Given the description of an element on the screen output the (x, y) to click on. 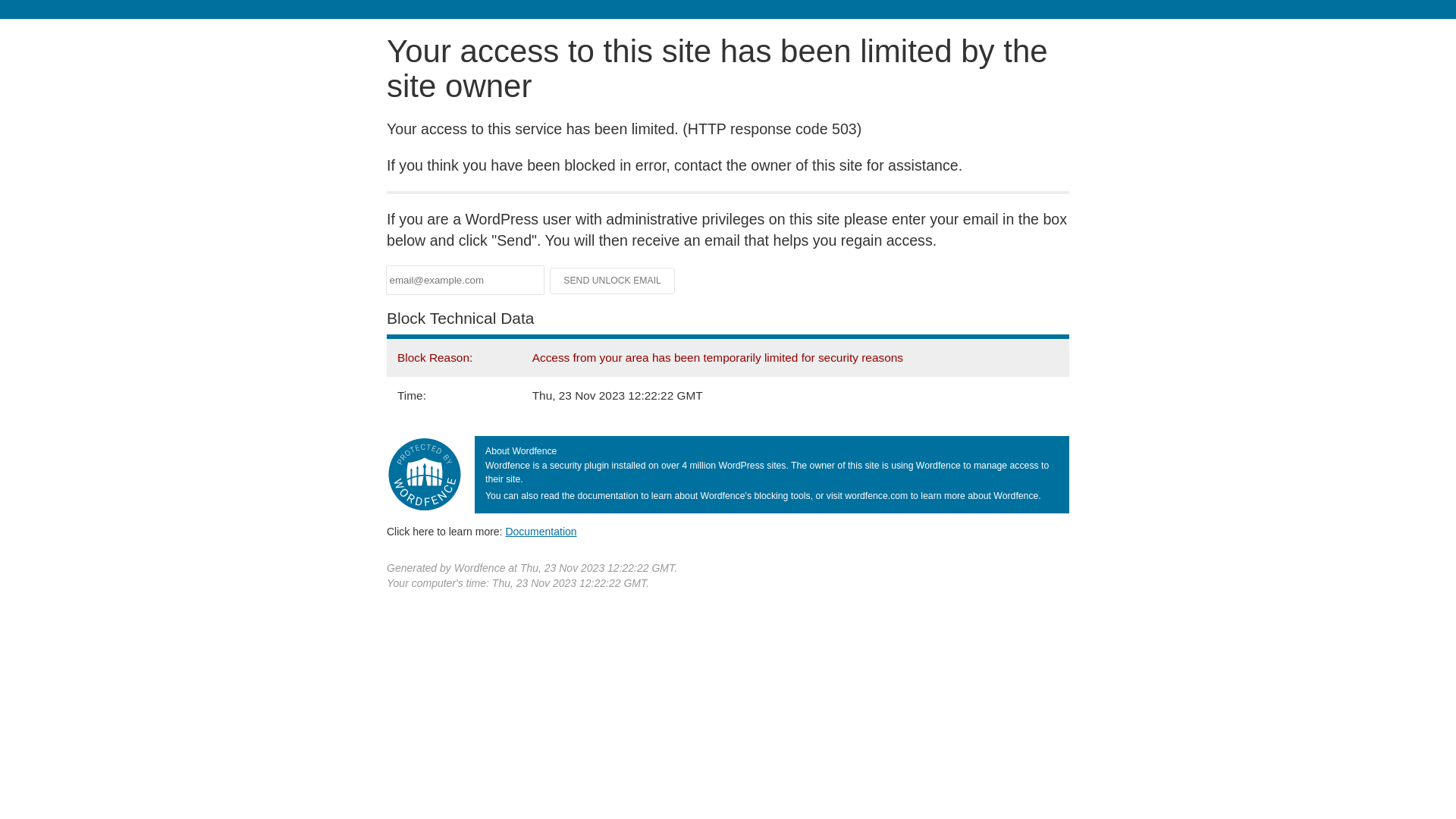
Send Unlock Email Element type: text (612, 280)
Documentation
(opens in new tab) Element type: text (540, 531)
